Given the description of an element on the screen output the (x, y) to click on. 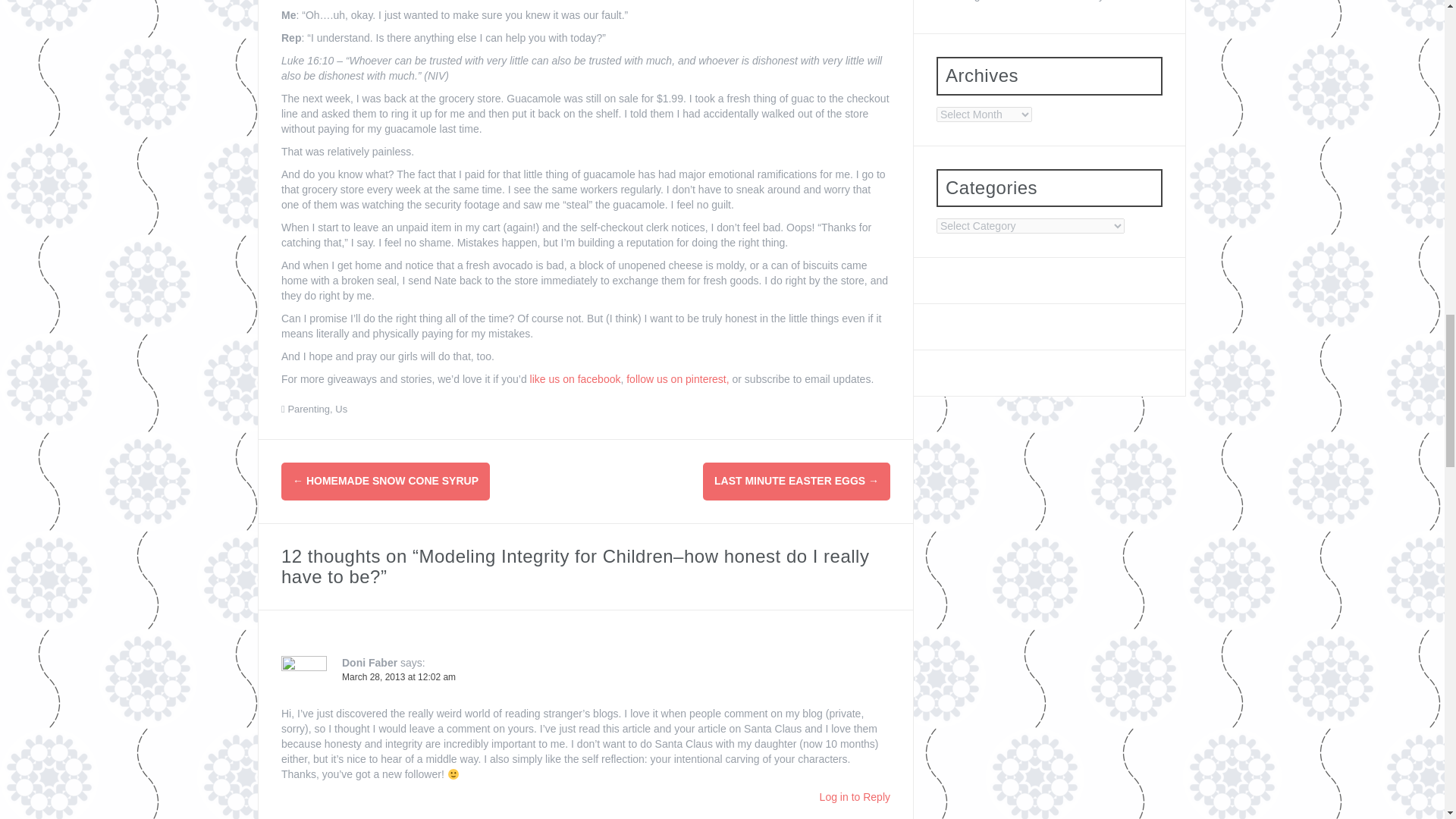
follow us on pinterest, (677, 378)
Parenting (308, 408)
like us on facebook (575, 378)
